Given the description of an element on the screen output the (x, y) to click on. 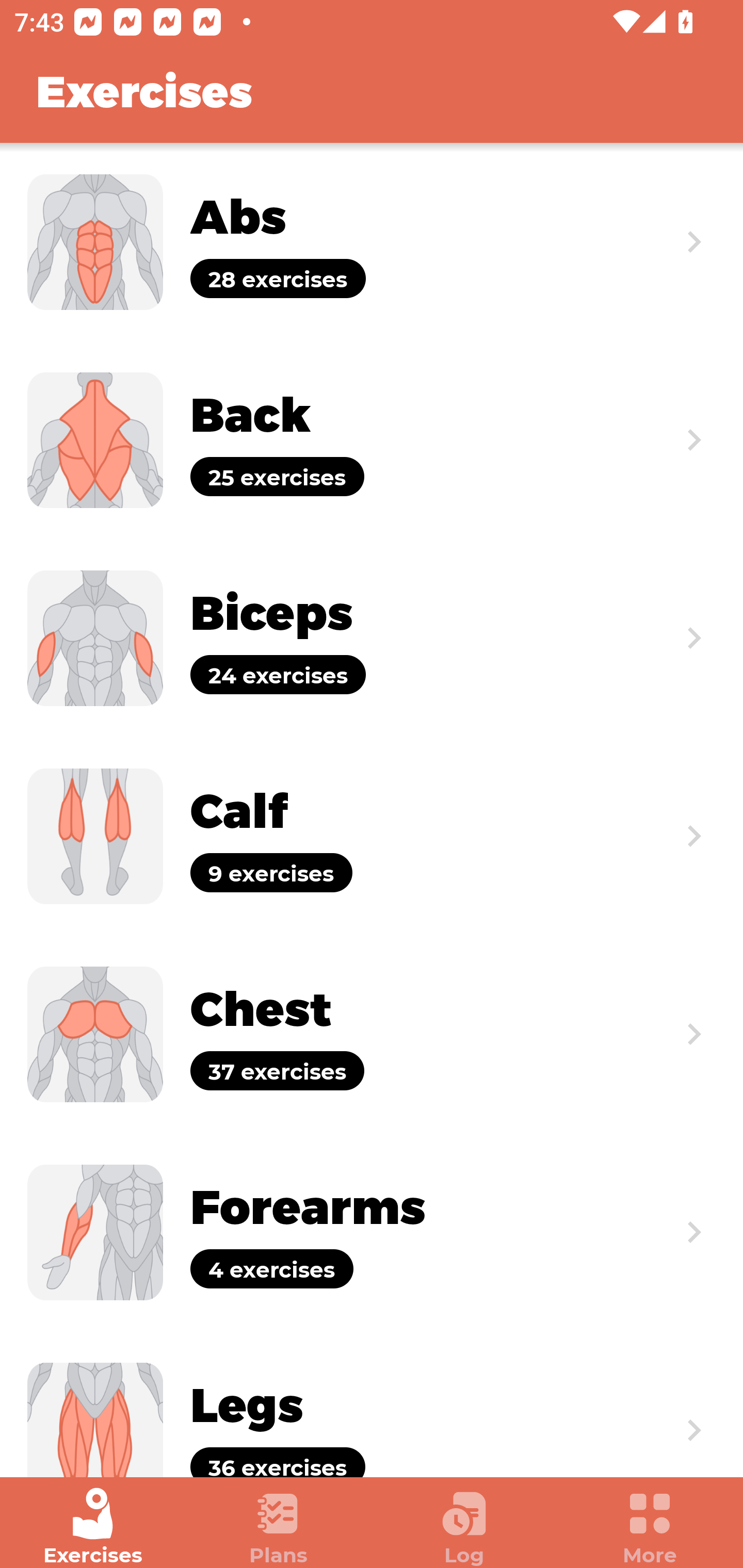
Exercise Abs 28 exercises (371, 241)
Exercise Back 25 exercises (371, 439)
Exercise Biceps 24 exercises (371, 637)
Exercise Calf 9 exercises (371, 836)
Exercise Chest 37 exercises (371, 1033)
Exercise Forearms 4 exercises (371, 1232)
Exercise Legs 36 exercises (371, 1404)
Exercises (92, 1527)
Plans (278, 1527)
Log (464, 1527)
More (650, 1527)
